Given the description of an element on the screen output the (x, y) to click on. 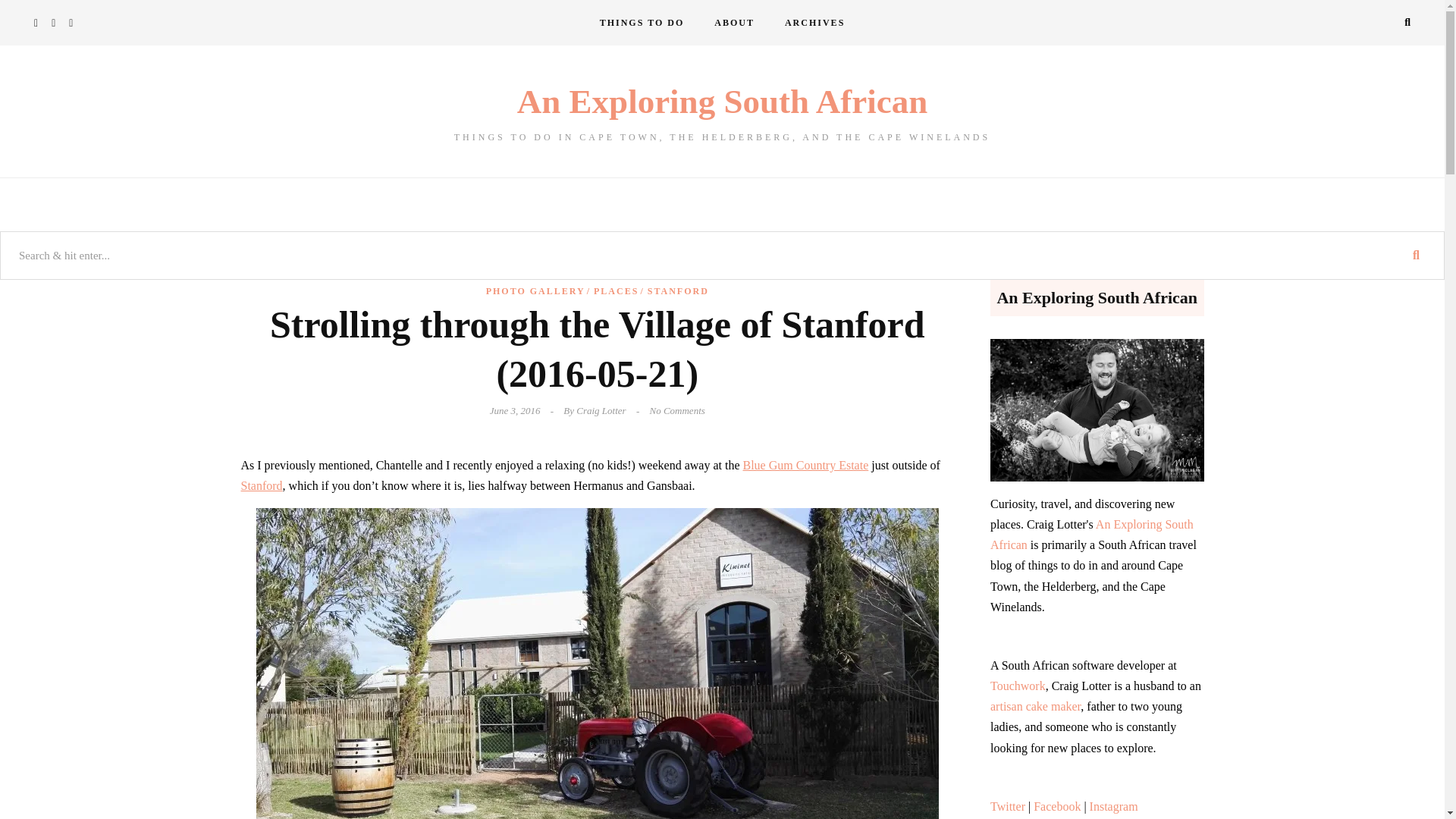
THINGS TO DO (642, 22)
An Exploring South Africa and Craig Lotter (734, 22)
Craig Lotter carrying his little girl Jessica (1097, 410)
